Given the description of an element on the screen output the (x, y) to click on. 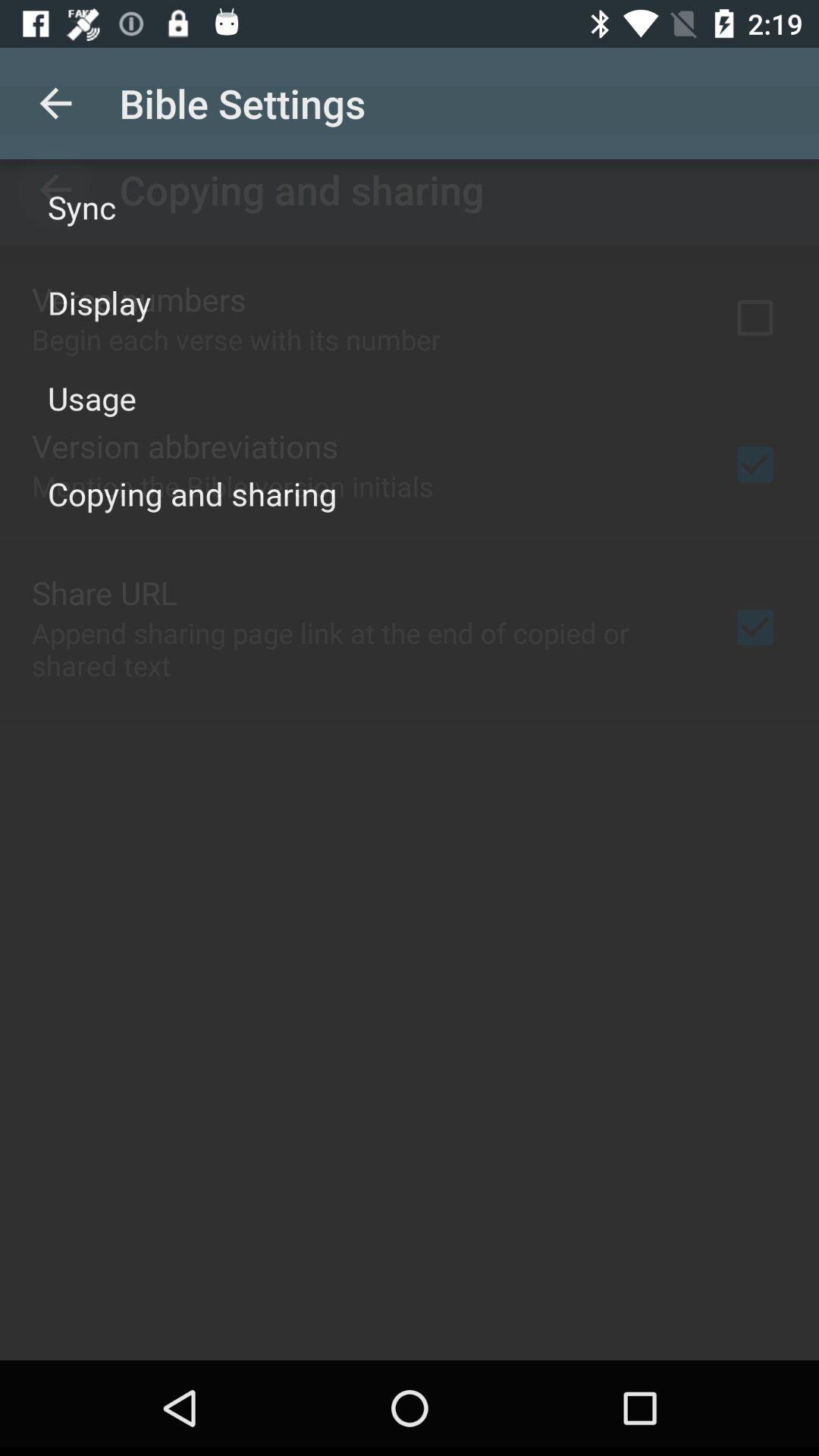
open icon above display icon (81, 206)
